Given the description of an element on the screen output the (x, y) to click on. 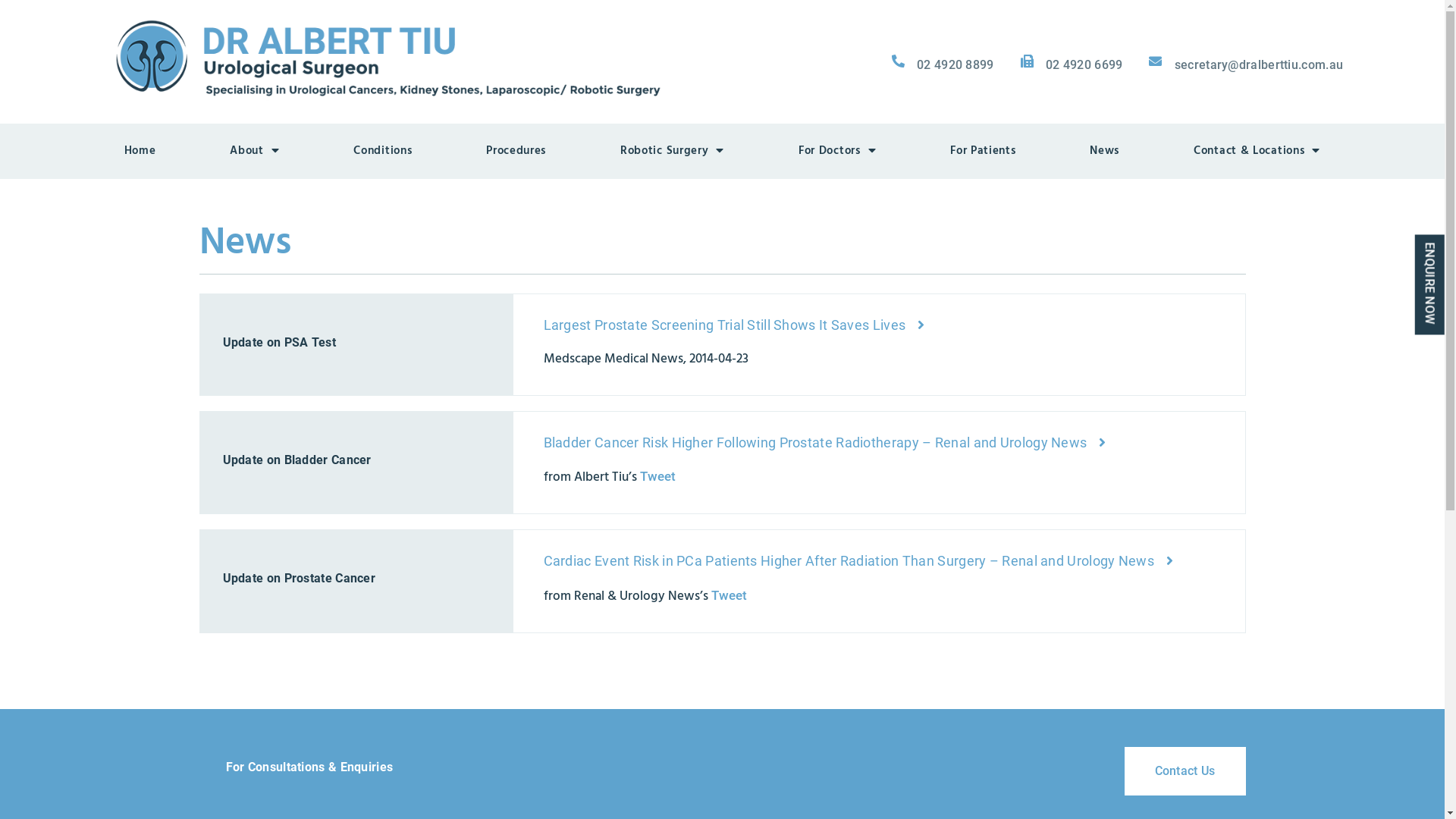
Contact Us Element type: text (1184, 770)
02 4920 8899 Element type: text (941, 65)
02 4920 6699 Element type: text (1070, 65)
Update on PSA Test Element type: text (356, 330)
Largest Prostate Screening Trial Still Shows It Saves Lives Element type: text (733, 330)
Update on Bladder Cancer Element type: text (356, 447)
Home Element type: text (140, 151)
Contact & Locations Element type: text (1256, 151)
Robotic Surgery Element type: text (672, 151)
For Doctors Element type: text (837, 151)
Tweet Element type: text (657, 475)
News Element type: text (1104, 151)
Procedures Element type: text (515, 151)
Conditions Element type: text (382, 151)
secretary@dralberttiu.com.au Element type: text (1244, 65)
Update on Prostate Cancer Element type: text (356, 566)
Tweet Element type: text (728, 594)
For Patients Element type: text (982, 151)
About Element type: text (254, 151)
